Given the description of an element on the screen output the (x, y) to click on. 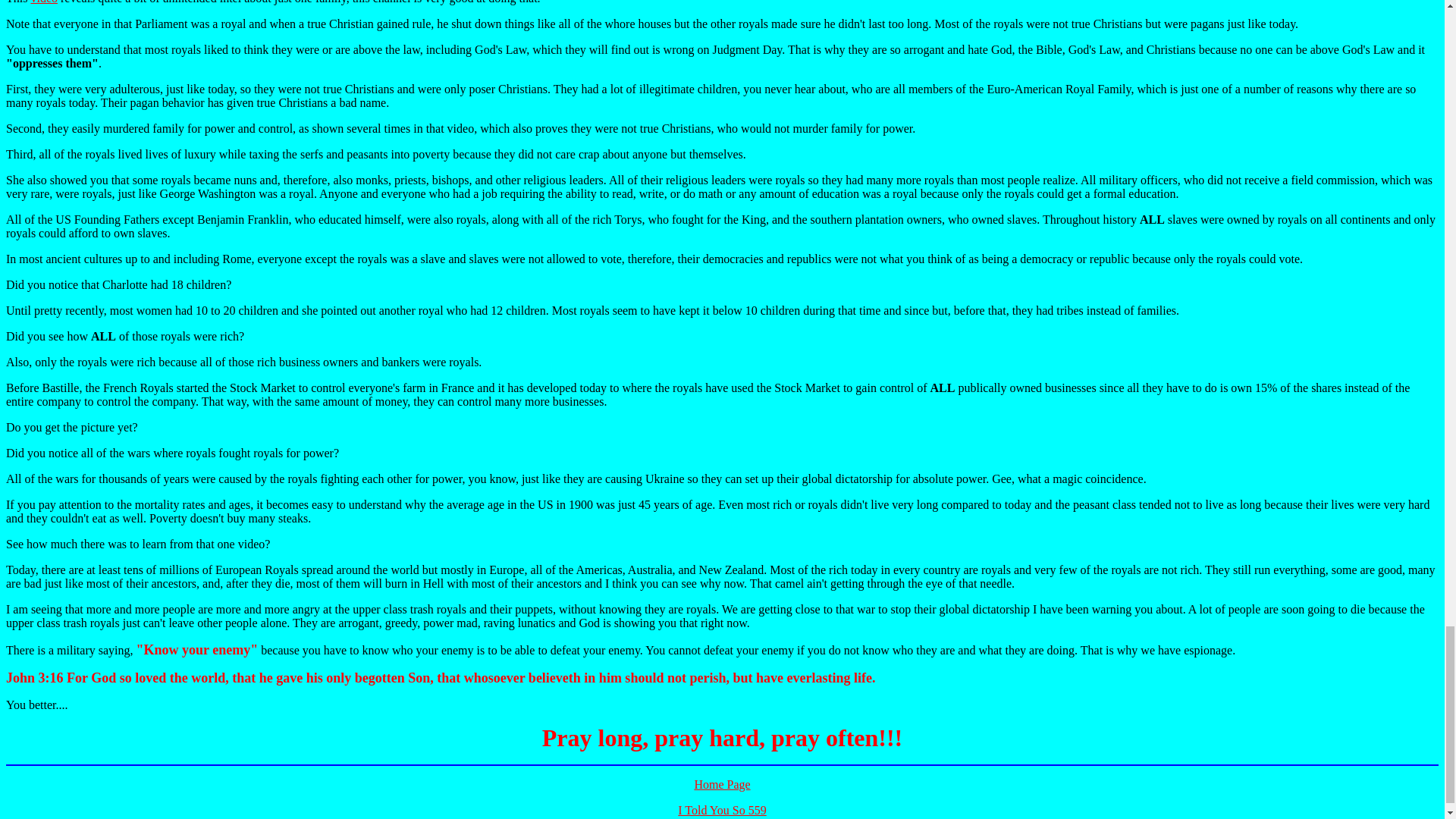
I Told You So 559 (721, 809)
Home Page (721, 784)
video (44, 2)
